Given the description of an element on the screen output the (x, y) to click on. 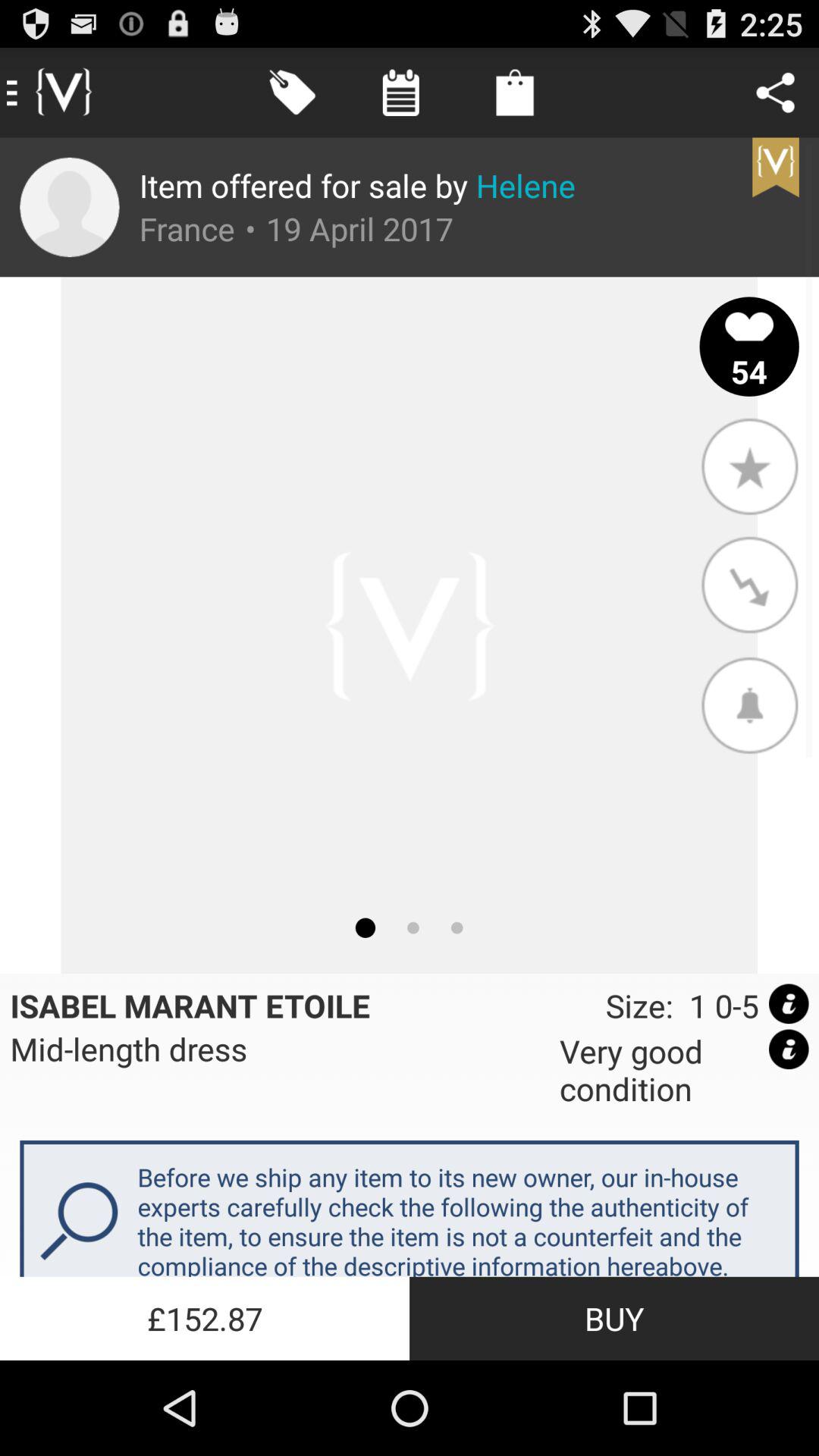
click the item below before we ship icon (614, 1318)
